Given the description of an element on the screen output the (x, y) to click on. 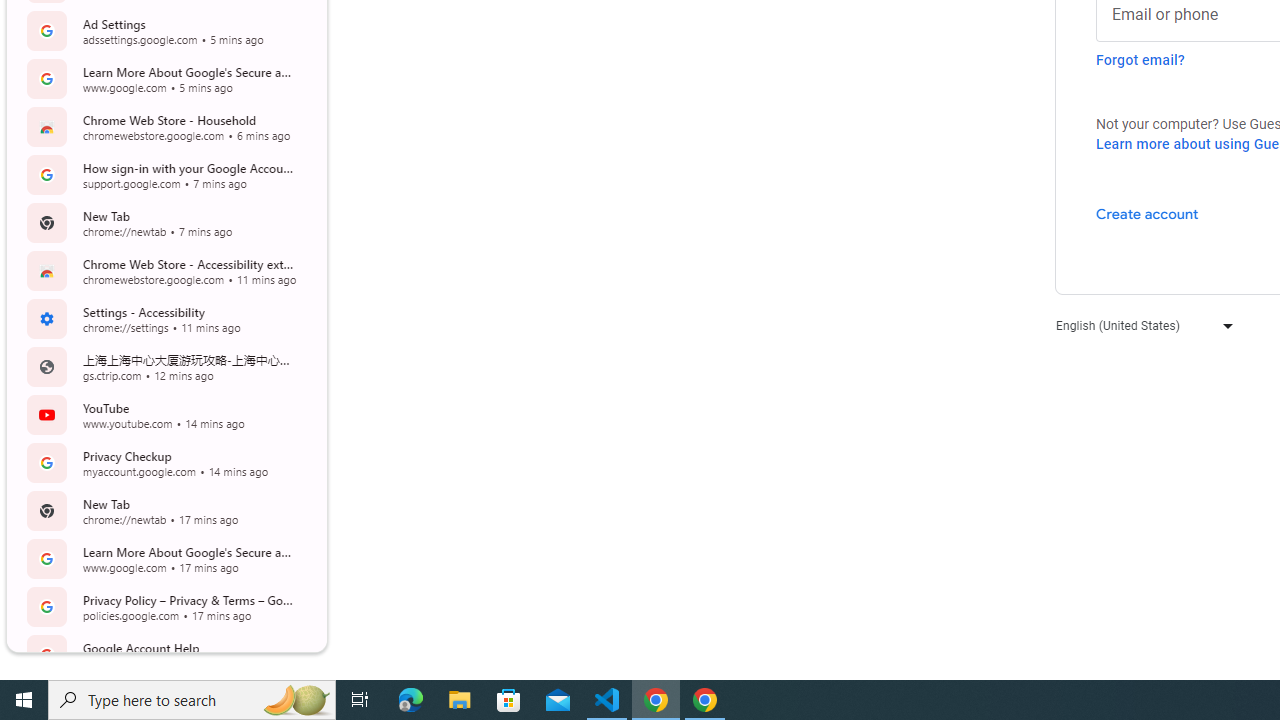
Microsoft Edge (411, 699)
Ad Settings adssettings.google.com 5 mins ago Open Tab (164, 30)
Task View (359, 699)
Google Chrome - 1 running window (704, 699)
Settings - Accessibility settings 11 mins ago Open Tab (164, 318)
New Tab newtab 7 mins ago Open Tab (164, 222)
YouTube www.youtube.com 14 mins ago Open Tab (164, 414)
Type here to search (191, 699)
